Given the description of an element on the screen output the (x, y) to click on. 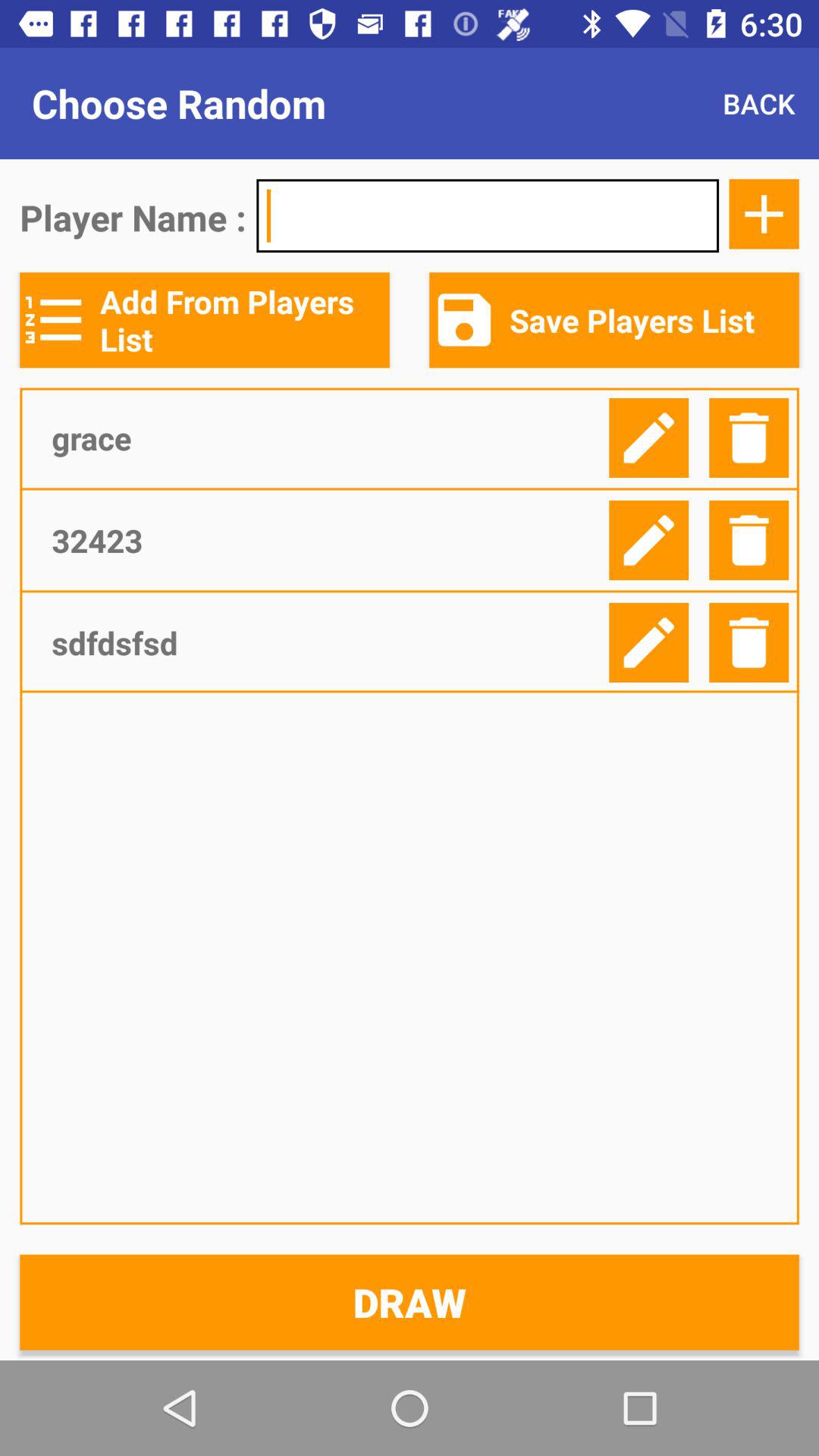
edit text (648, 437)
